Given the description of an element on the screen output the (x, y) to click on. 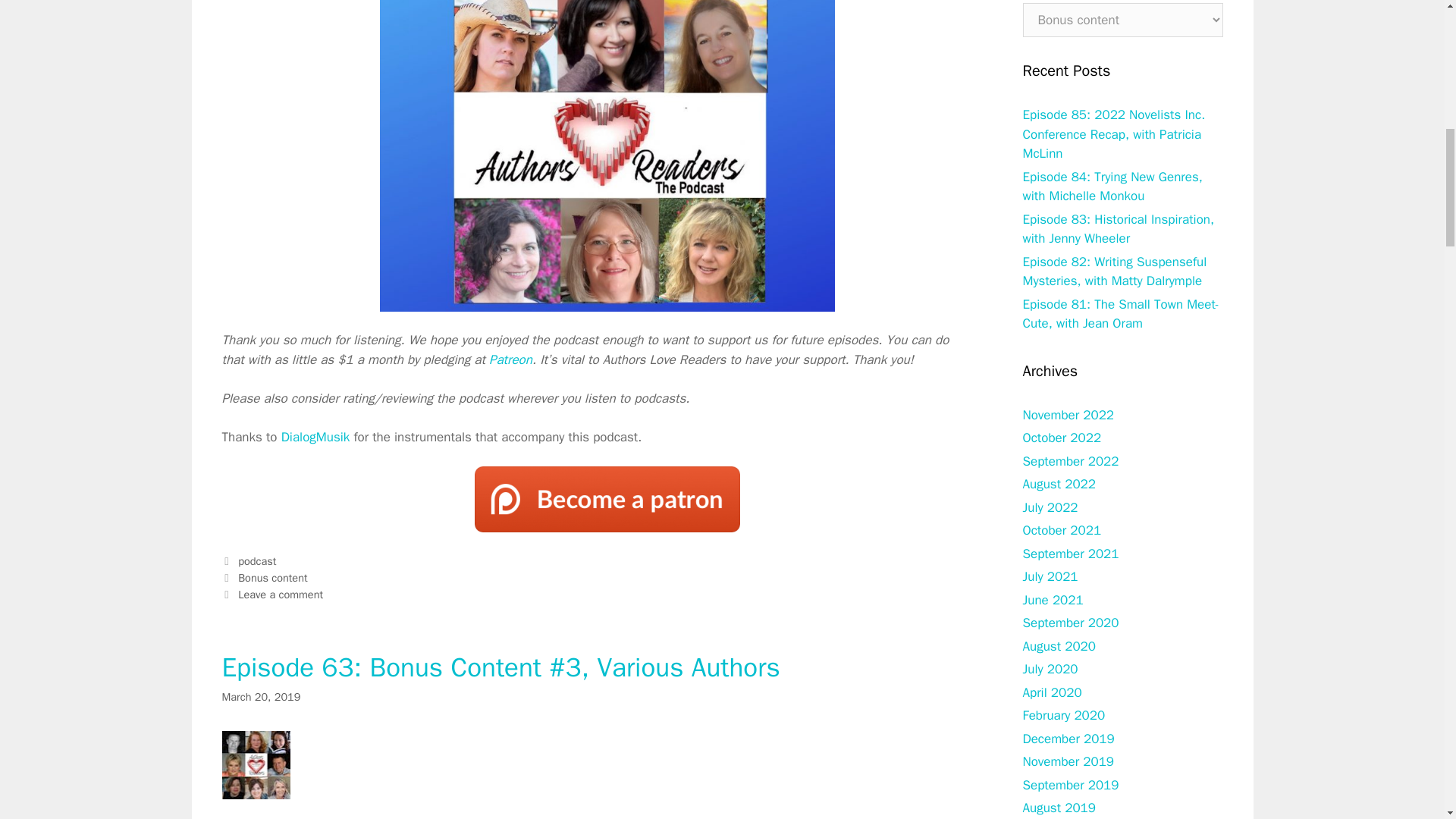
DialogMusi (312, 437)
Patreon (510, 359)
Bonus content (272, 577)
podcast (257, 561)
Leave a comment (280, 594)
